Given the description of an element on the screen output the (x, y) to click on. 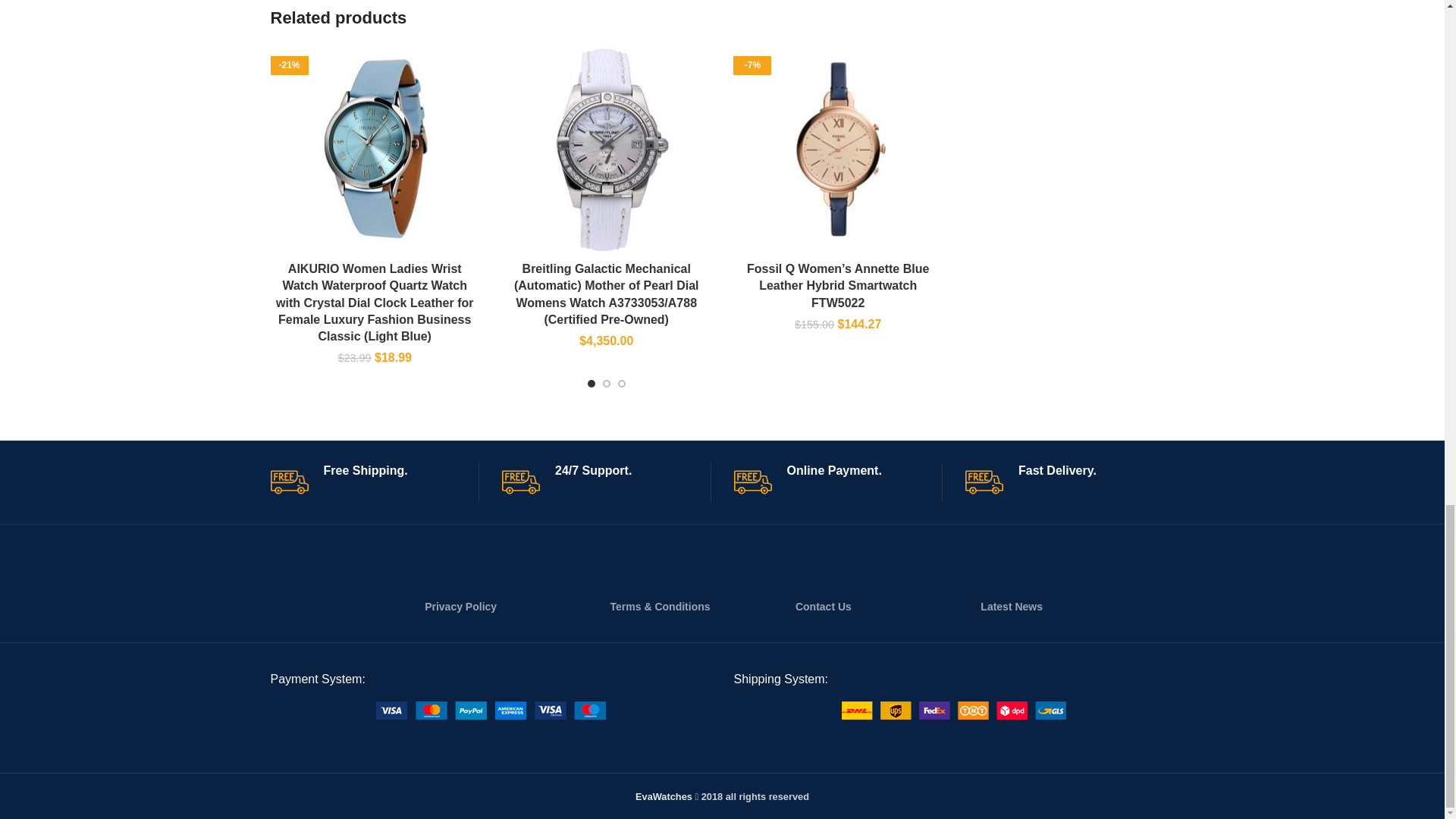
retail-free-shipping (288, 482)
